Given the description of an element on the screen output the (x, y) to click on. 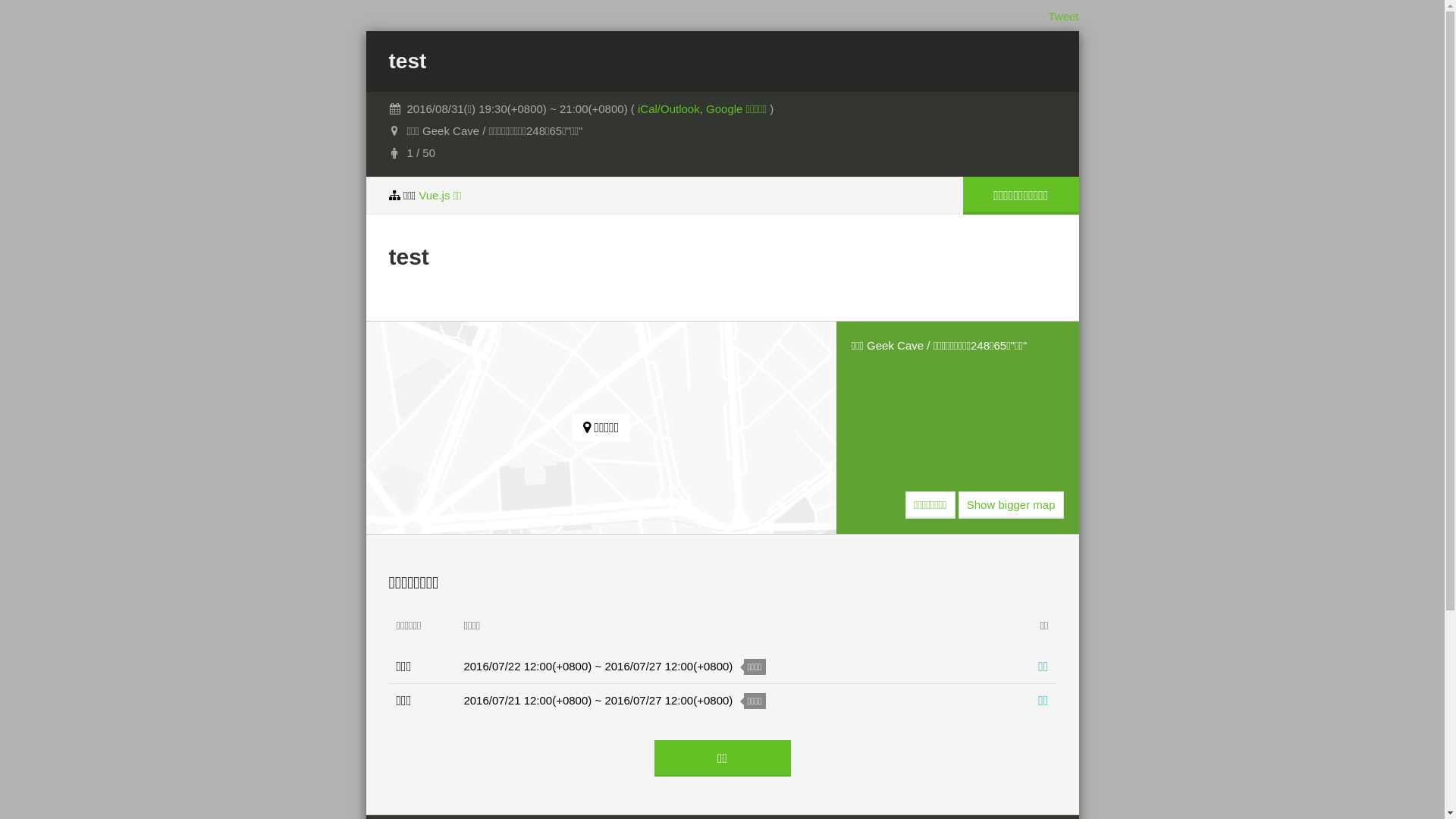
Tweet Element type: text (1063, 15)
iCal/Outlook Element type: text (668, 108)
Show bigger map Element type: text (1010, 504)
